Given the description of an element on the screen output the (x, y) to click on. 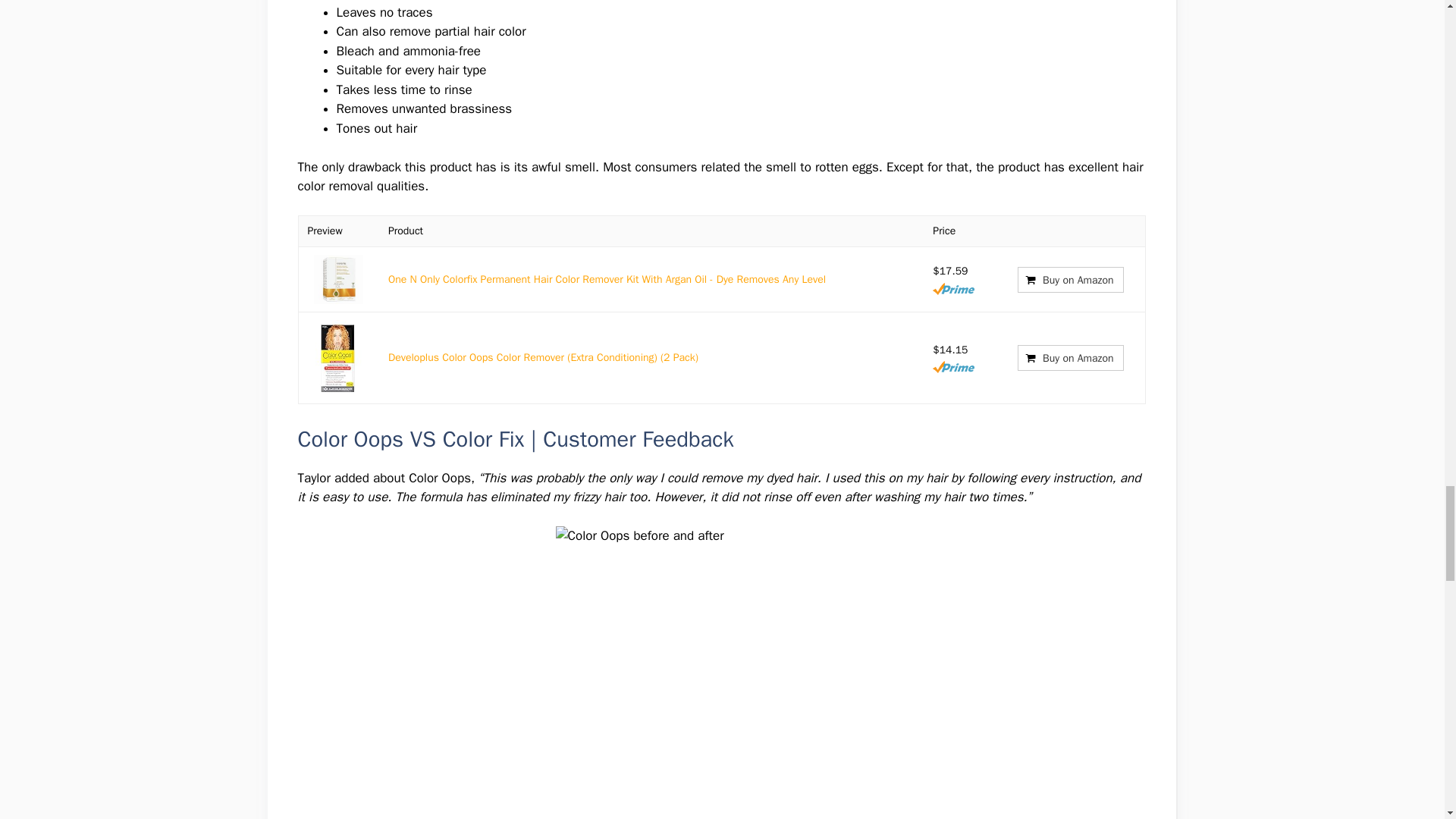
Buy on Amazon (1069, 279)
